Given the description of an element on the screen output the (x, y) to click on. 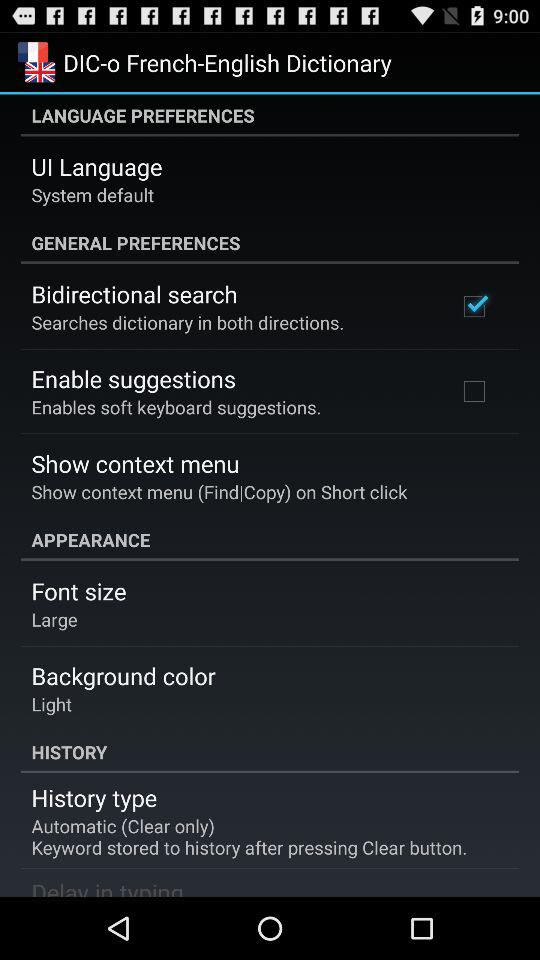
press item below the large (123, 675)
